Given the description of an element on the screen output the (x, y) to click on. 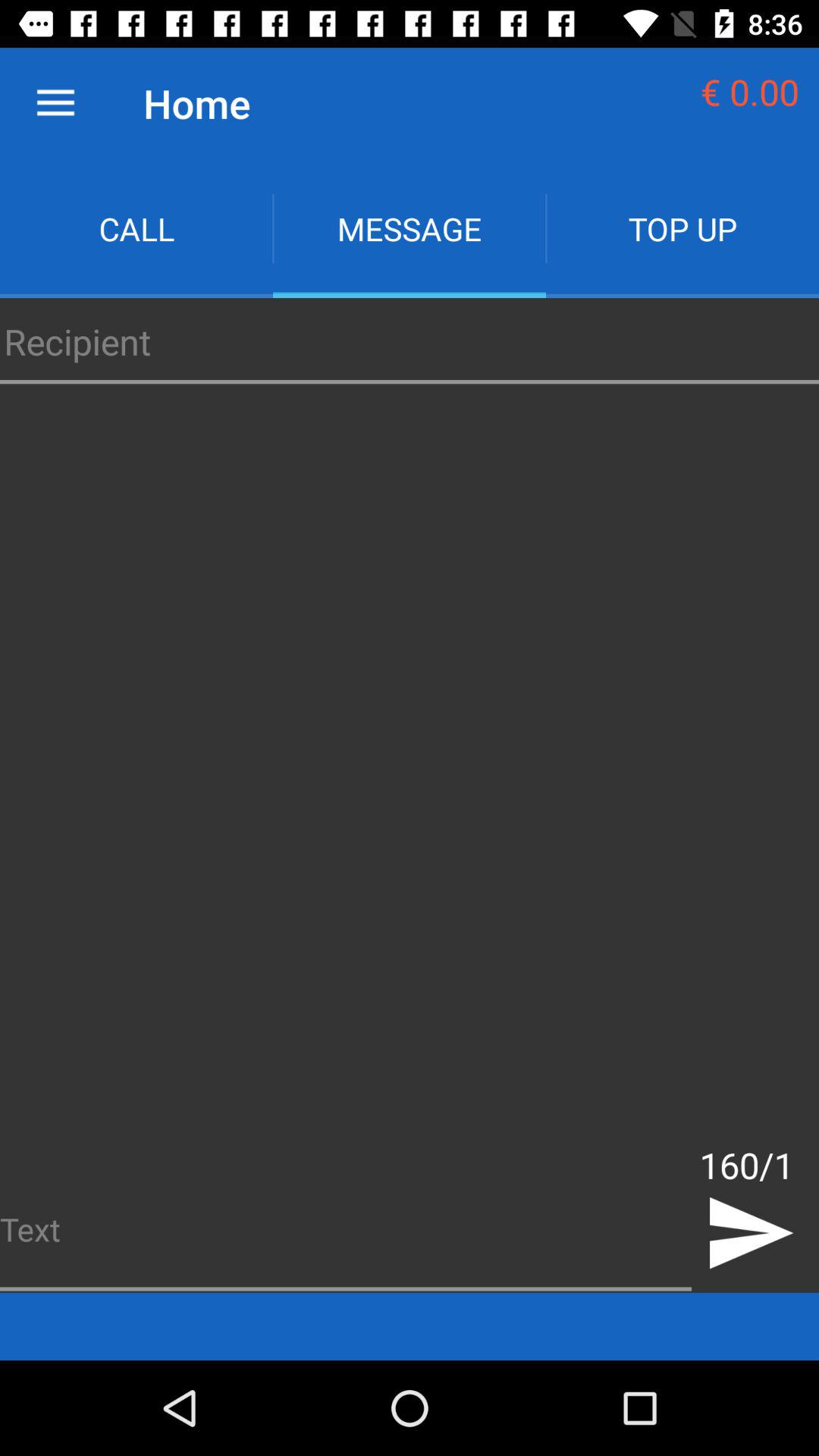
swipe until message (409, 228)
